Given the description of an element on the screen output the (x, y) to click on. 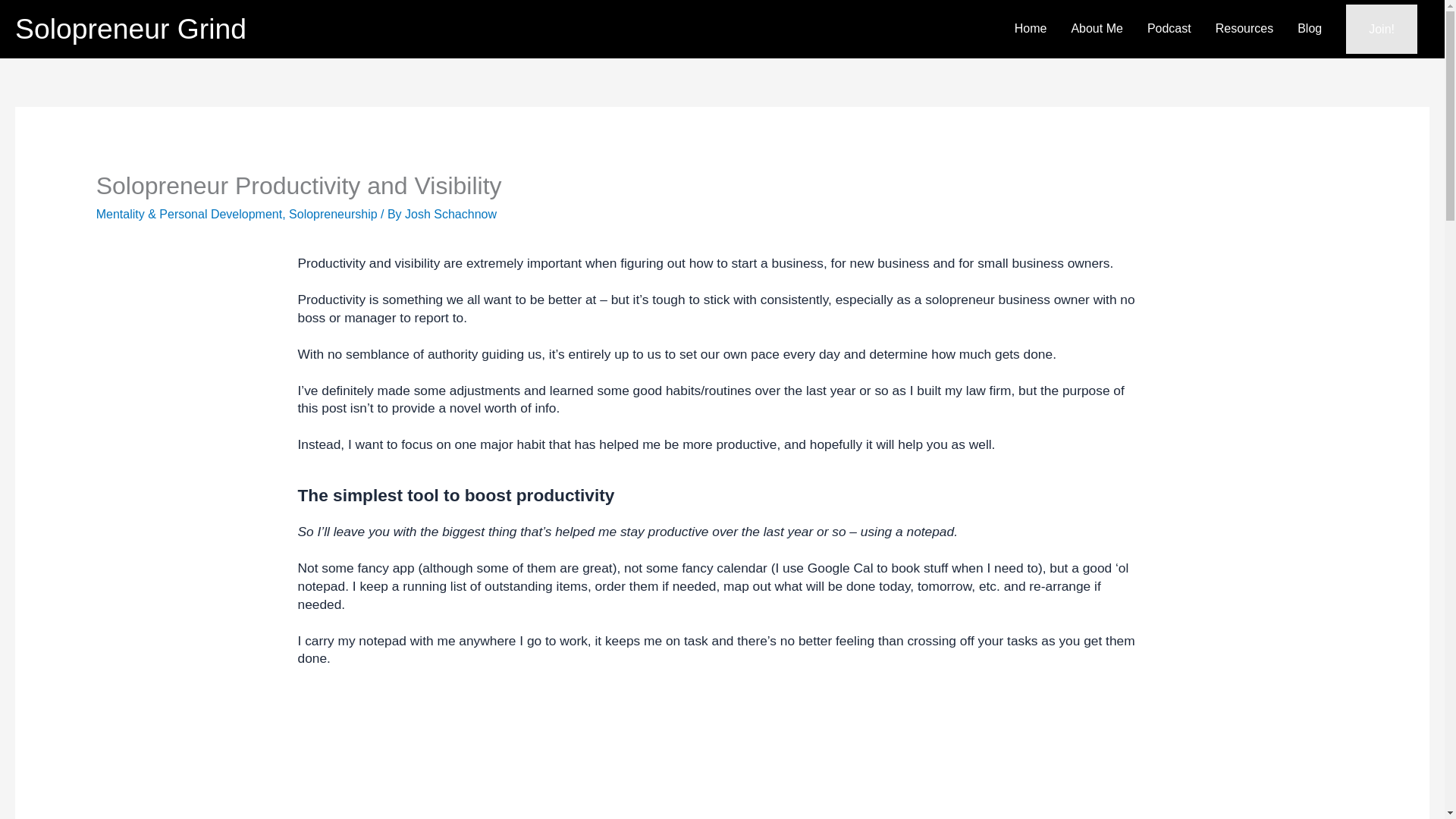
Solopreneur Grind (130, 29)
View all posts by Josh Schachnow (450, 214)
About Me (1096, 29)
Josh Schachnow (450, 214)
Join! (1380, 29)
Blog (1309, 29)
Podcast (1169, 29)
Home (1031, 29)
Solopreneurship (332, 214)
Resources (1244, 29)
